Given the description of an element on the screen output the (x, y) to click on. 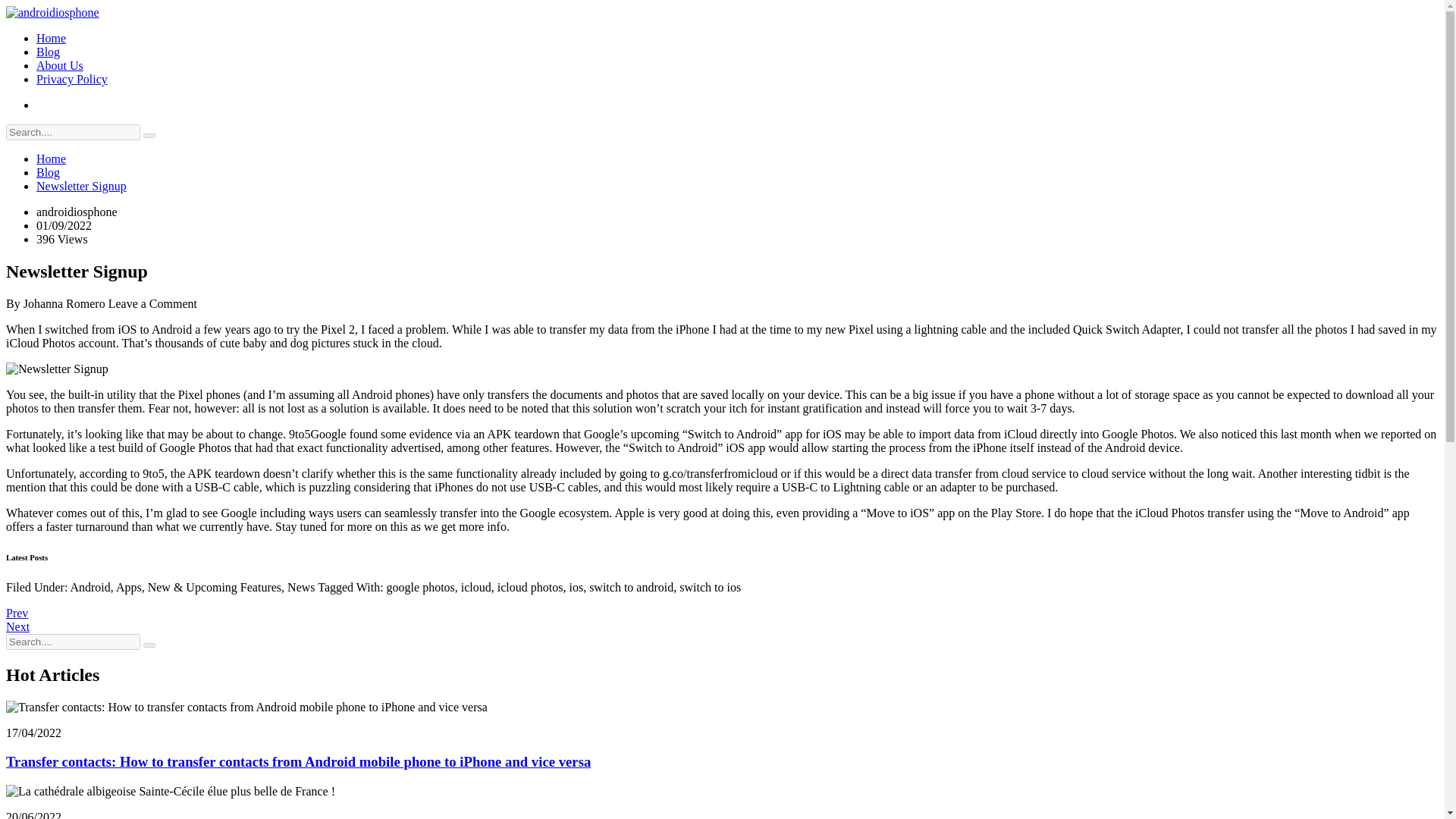
Blog (47, 51)
About Us (59, 65)
Newsletter Signup (56, 368)
Privacy Policy (71, 78)
Prev (16, 612)
Newsletter Signup (81, 185)
Home (50, 38)
Next (17, 626)
androidiosphone (52, 12)
How to SIM unlock the Samsung Galaxy A32 (16, 612)
About Us (59, 65)
Blog (47, 172)
